Given the description of an element on the screen output the (x, y) to click on. 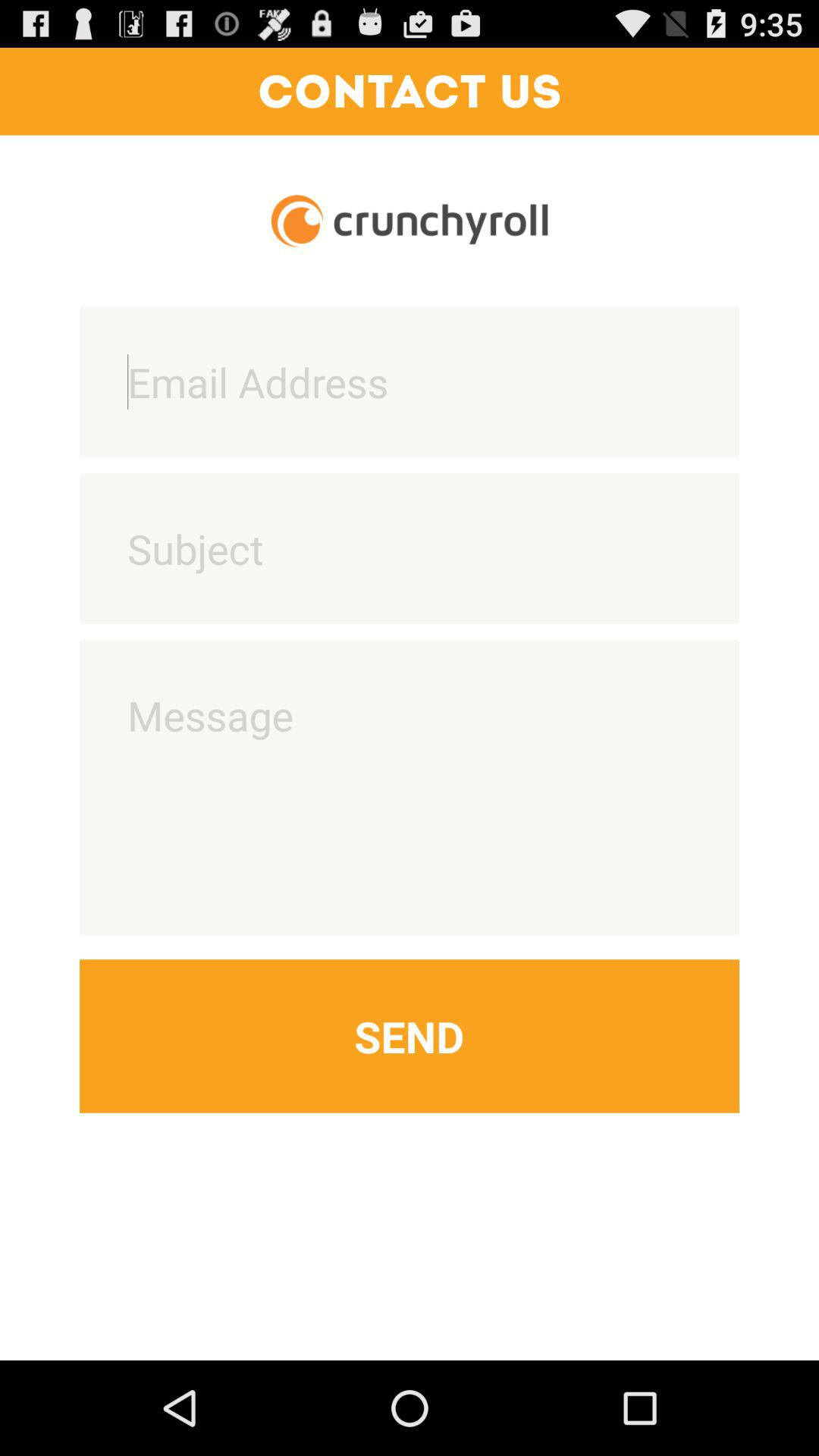
enter (409, 548)
